Given the description of an element on the screen output the (x, y) to click on. 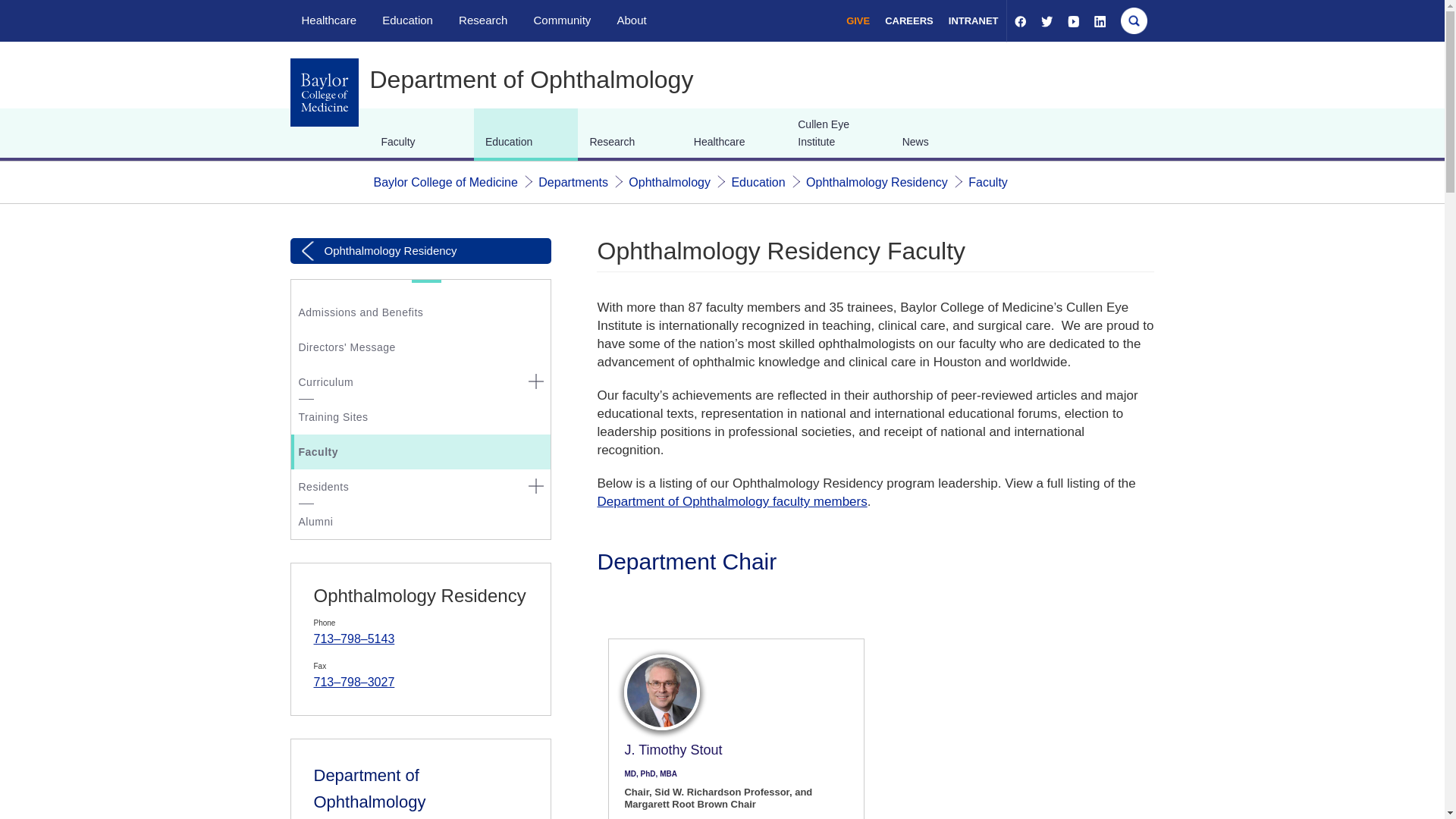
Healthcare (328, 19)
Ophthalmology Faculty (731, 501)
Education (757, 182)
Ophthalmology (669, 182)
Departments (573, 182)
Ophthalmology Residency (876, 182)
Education (406, 19)
Baylor College of Medicine (444, 182)
Faculty (987, 182)
